Given the description of an element on the screen output the (x, y) to click on. 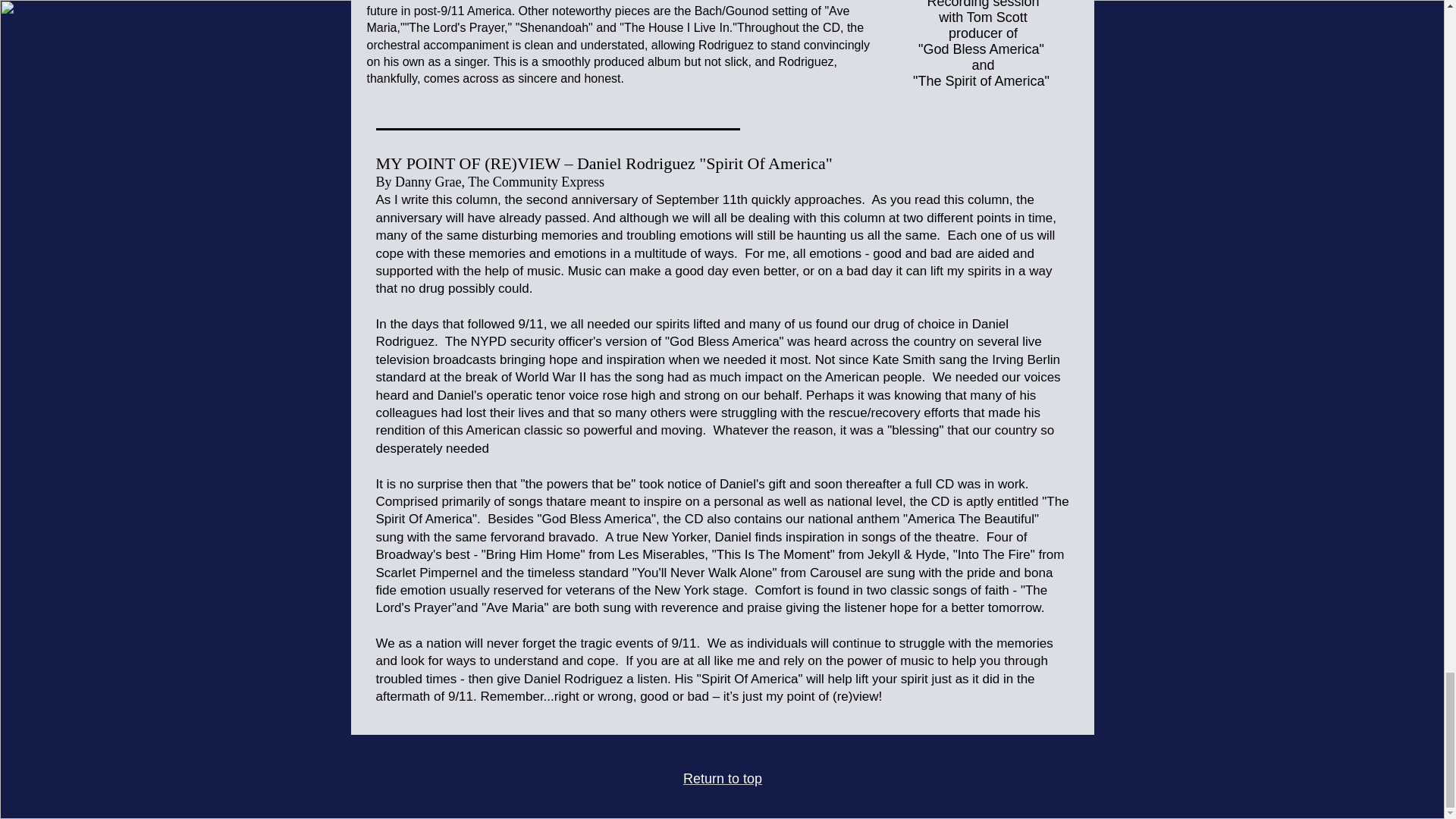
Return to top (721, 778)
